Given the description of an element on the screen output the (x, y) to click on. 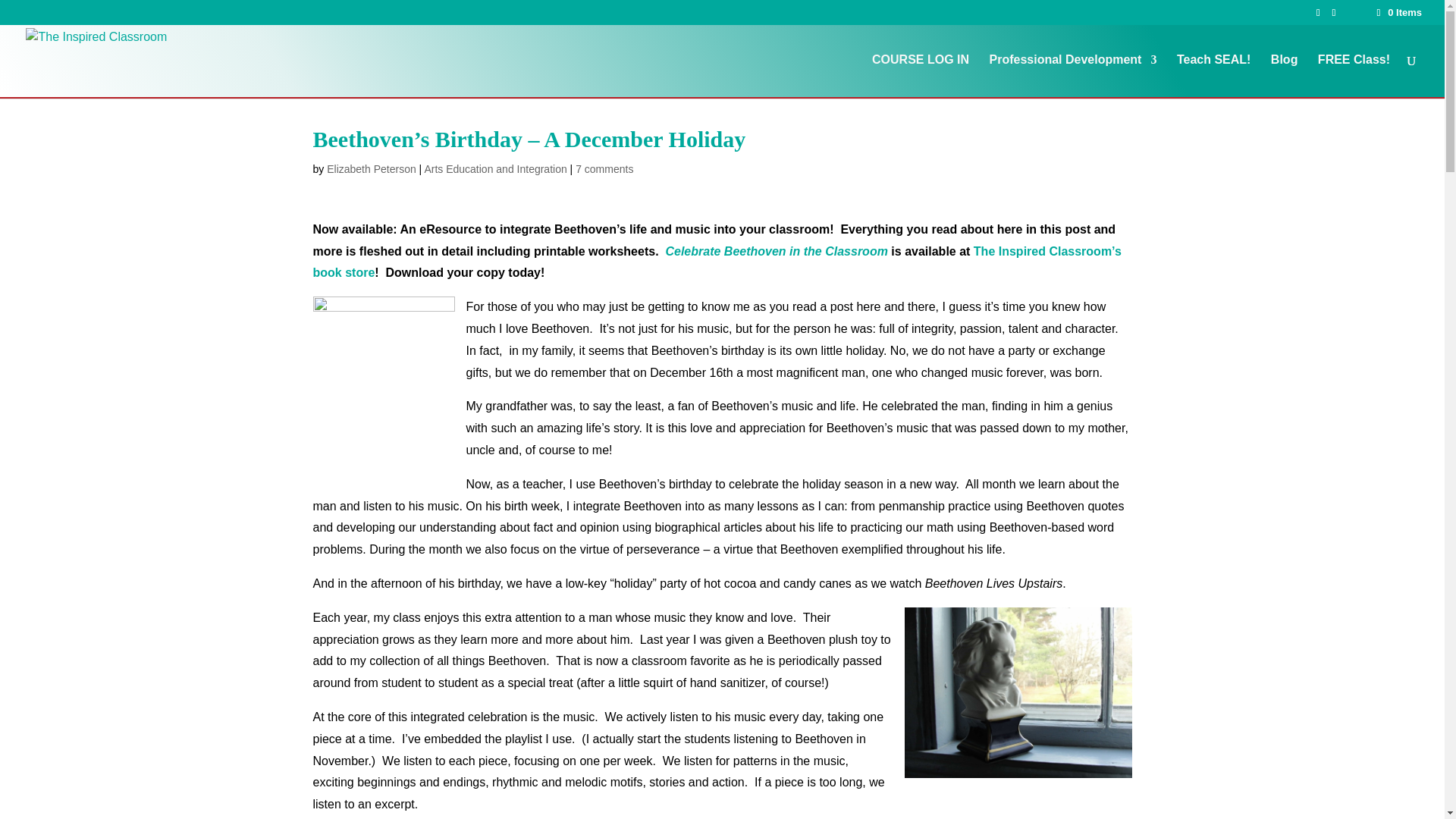
Professional Development (1072, 75)
COURSE LOG IN (920, 75)
Posts by Elizabeth Peterson (371, 168)
Arts Education and Integration (494, 168)
Elizabeth Peterson (371, 168)
Teach SEAL! (1213, 75)
Celebrate Beethoven in the Classroom (775, 250)
0 Items (1398, 12)
beeth in class (1017, 692)
Celebrate Beethoven in the Classroom (775, 250)
